Given the description of an element on the screen output the (x, y) to click on. 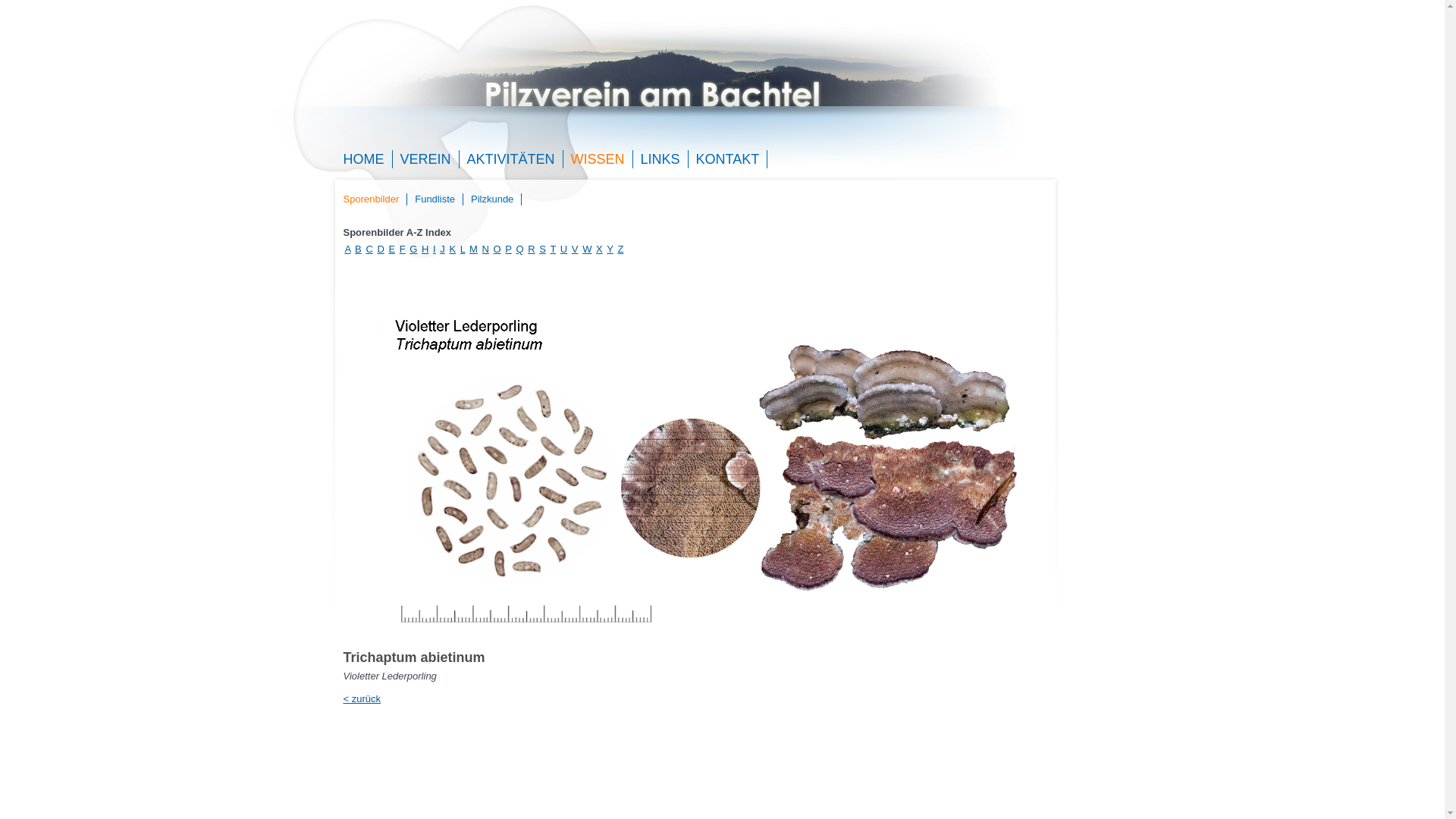
E Element type: text (391, 248)
S Element type: text (542, 248)
Y Element type: text (609, 248)
J Element type: text (442, 248)
HOME Element type: text (359, 158)
U Element type: text (563, 248)
K Element type: text (451, 248)
O Element type: text (497, 248)
H Element type: text (424, 248)
LINKS Element type: text (656, 158)
G Element type: text (413, 248)
I Element type: text (434, 248)
R Element type: text (530, 248)
X Element type: text (599, 248)
Fundliste Element type: text (431, 198)
W Element type: text (586, 248)
Pilzkunde Element type: text (488, 198)
D Element type: text (379, 248)
T Element type: text (552, 248)
A Element type: text (347, 248)
Trichaptum abietinum, Violetter Lederporling Element type: hover (695, 464)
F Element type: text (402, 248)
Q Element type: text (519, 248)
V Element type: text (574, 248)
Z Element type: text (620, 248)
C Element type: text (368, 248)
L Element type: text (462, 248)
N Element type: text (485, 248)
KONTAKT Element type: text (723, 158)
VEREIN Element type: text (421, 158)
P Element type: text (508, 248)
B Element type: text (357, 248)
WISSEN Element type: text (593, 158)
M Element type: text (473, 248)
Sporenbilder Element type: text (366, 198)
